Given the description of an element on the screen output the (x, y) to click on. 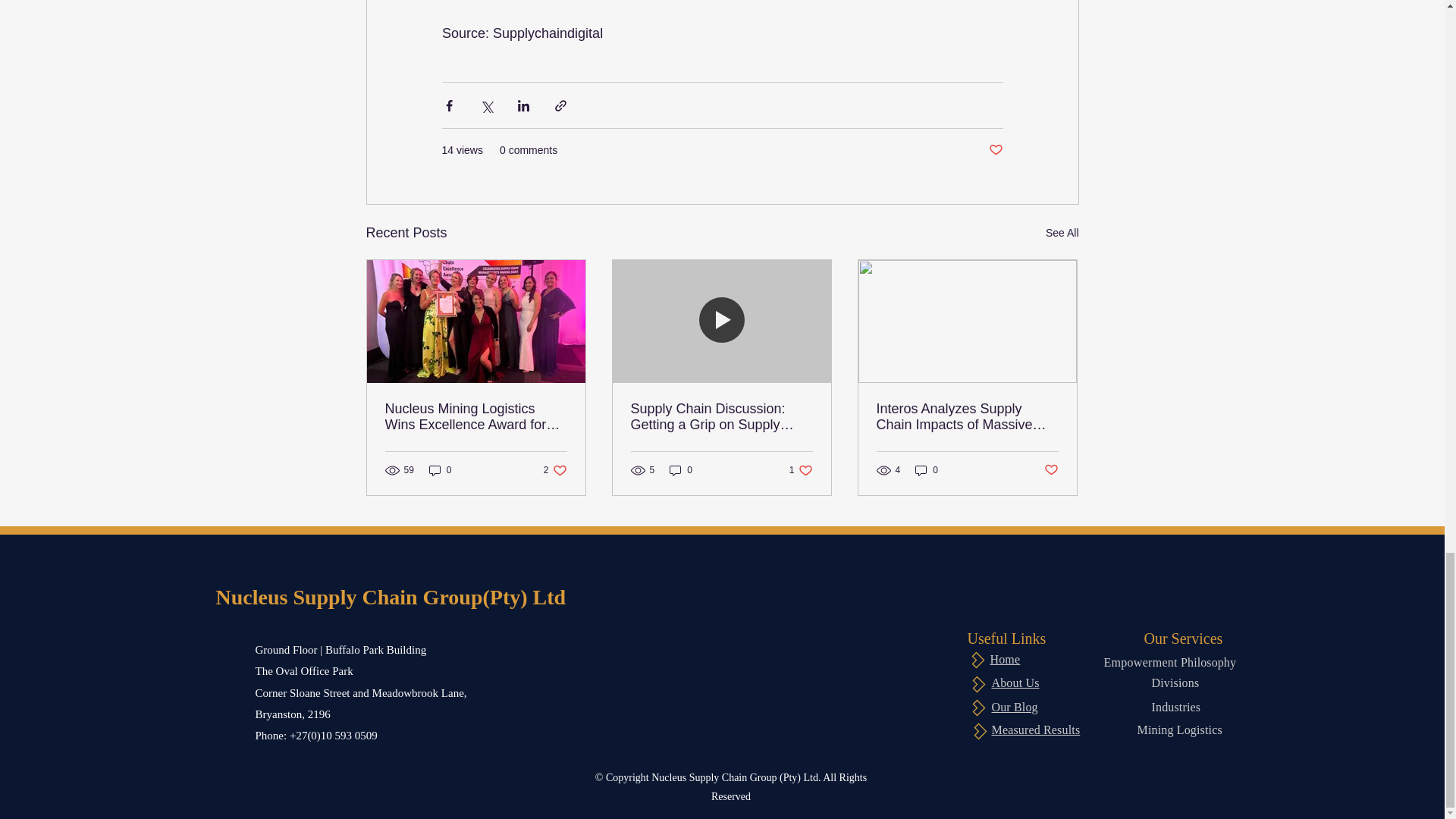
0 (681, 470)
0 (926, 470)
See All (1061, 232)
Post not marked as liked (995, 150)
0 (440, 470)
Post not marked as liked (1050, 470)
About Us (555, 470)
Home (1015, 682)
